Given the description of an element on the screen output the (x, y) to click on. 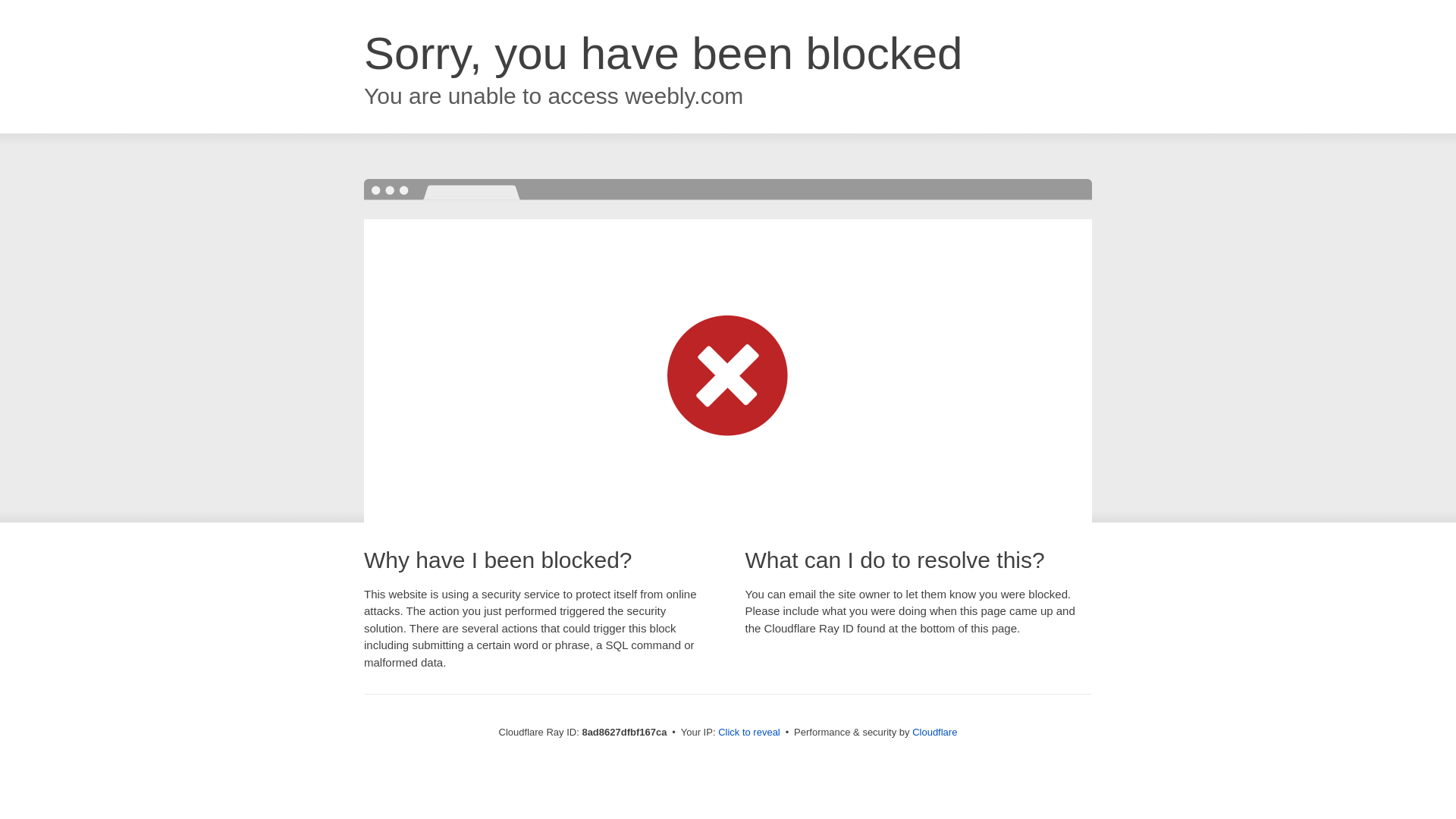
Cloudflare (934, 731)
Click to reveal (748, 732)
